Given the description of an element on the screen output the (x, y) to click on. 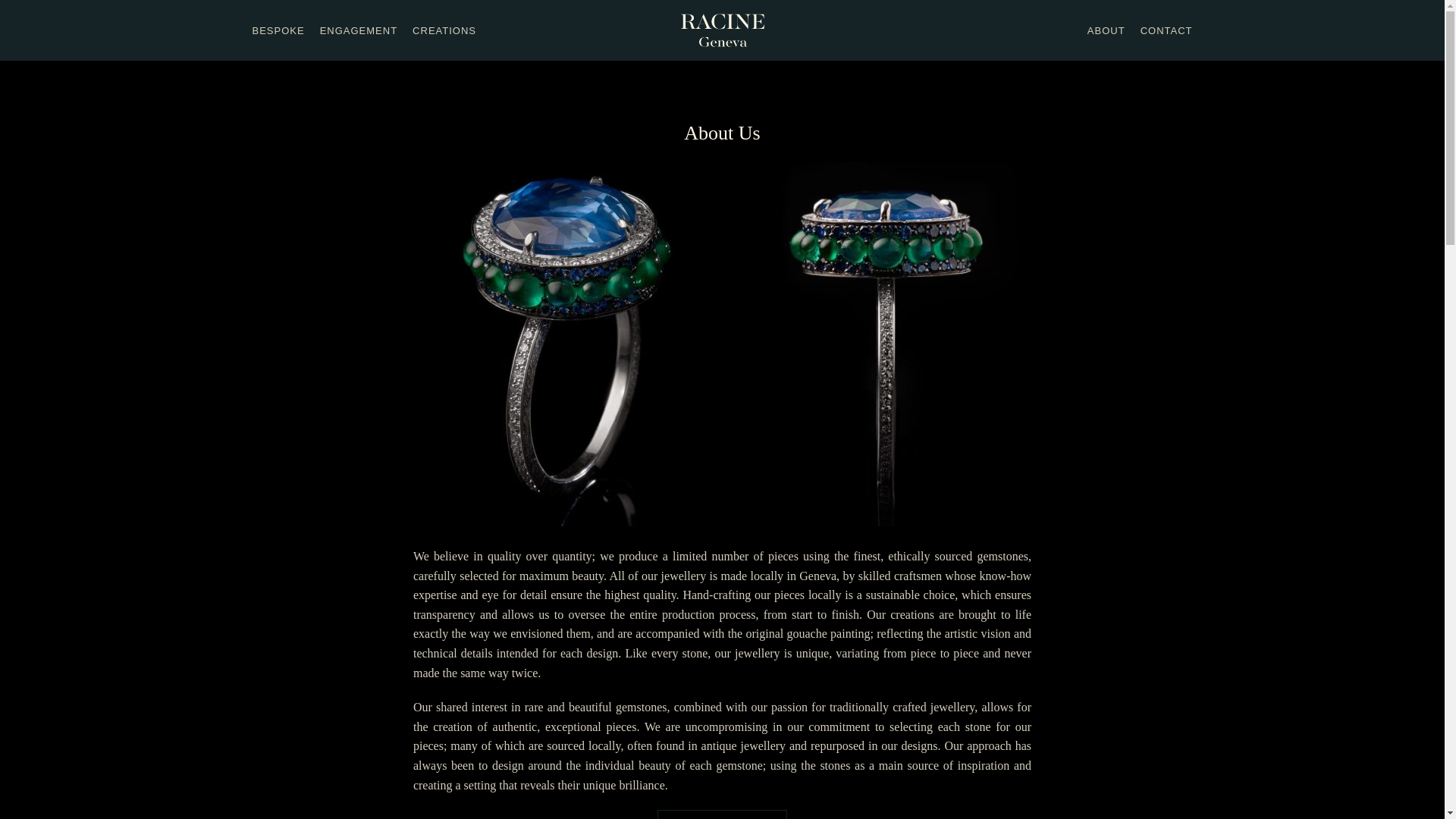
ABOUT (1106, 31)
BESPOKE (277, 31)
CREATIONS (444, 31)
CONTACT (1166, 31)
ENGAGEMENT (358, 31)
SEE OUR CREATIONS (722, 814)
